Given the description of an element on the screen output the (x, y) to click on. 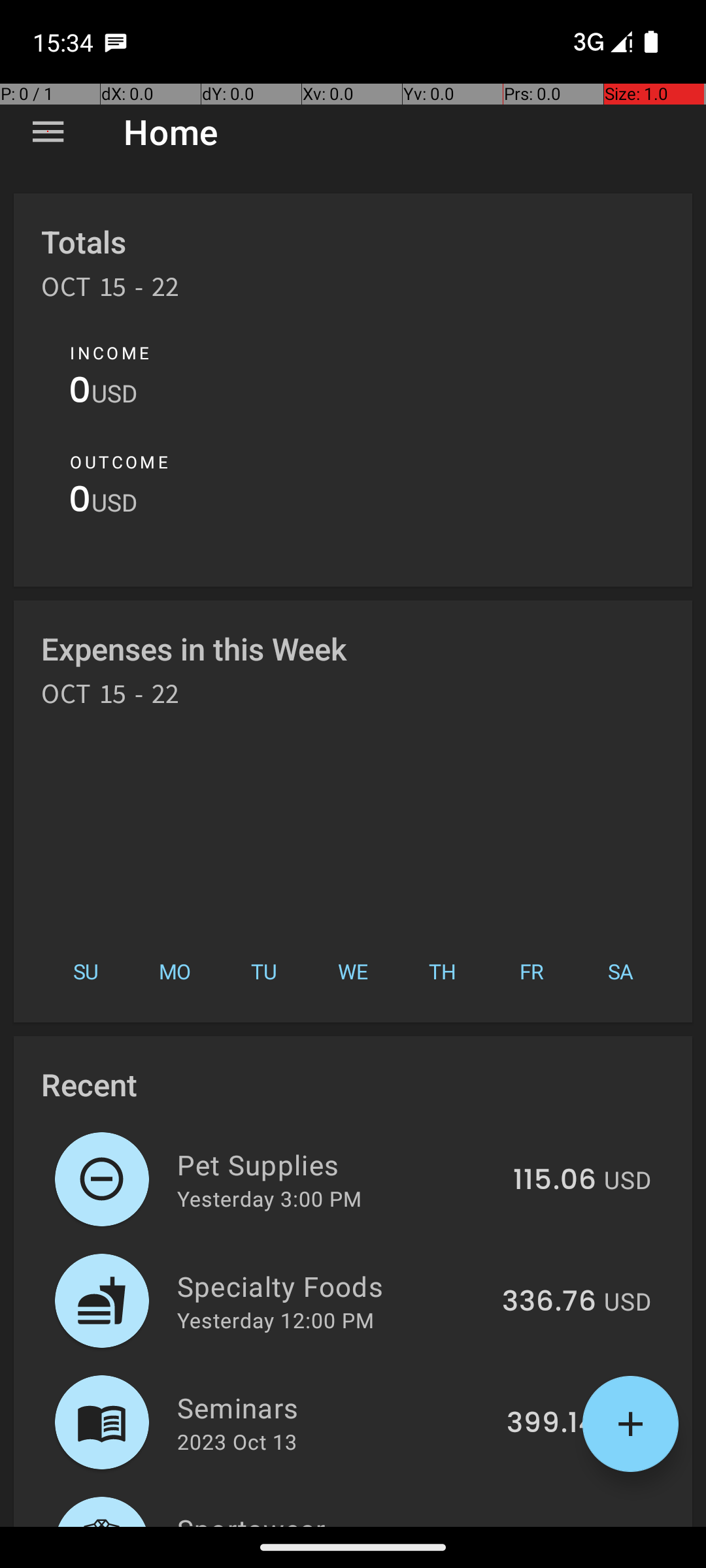
Pet Supplies Element type: android.widget.TextView (337, 1164)
Yesterday 3:00 PM Element type: android.widget.TextView (269, 1198)
115.06 Element type: android.widget.TextView (554, 1180)
Yesterday 12:00 PM Element type: android.widget.TextView (275, 1320)
336.76 Element type: android.widget.TextView (548, 1301)
Seminars Element type: android.widget.TextView (334, 1407)
399.14 Element type: android.widget.TextView (550, 1423)
Sportswear Element type: android.widget.TextView (337, 1518)
190.91 Element type: android.widget.TextView (554, 1524)
SMS Messenger notification: Martin Chen Element type: android.widget.ImageView (115, 41)
